Given the description of an element on the screen output the (x, y) to click on. 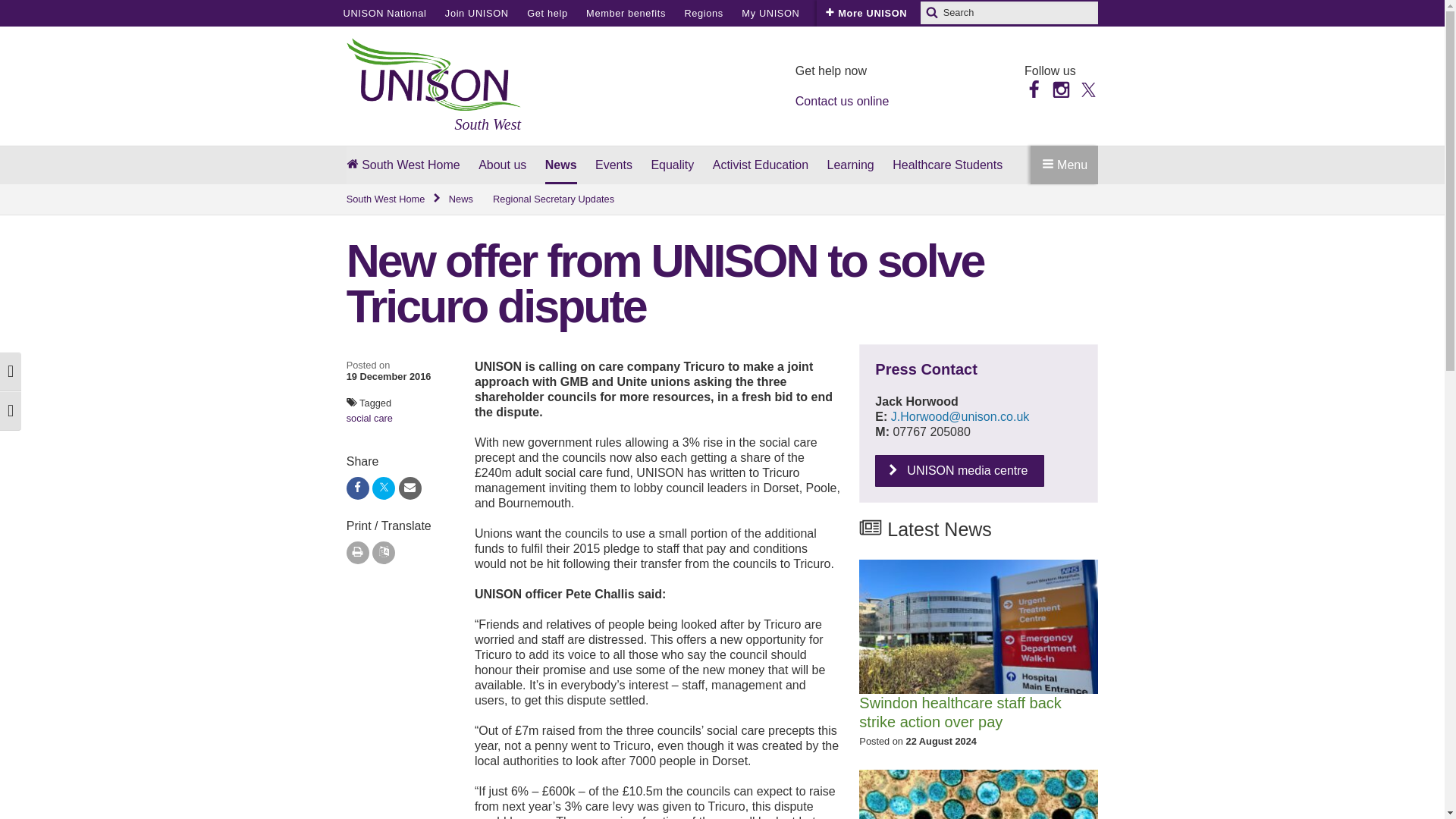
Regional Secretary Updates (553, 199)
Regions (703, 13)
South West Home News Regional Secretary Updates (722, 199)
Contact us online (841, 101)
UNISON National (384, 13)
South West Home (394, 199)
Instagram (1060, 88)
